Given the description of an element on the screen output the (x, y) to click on. 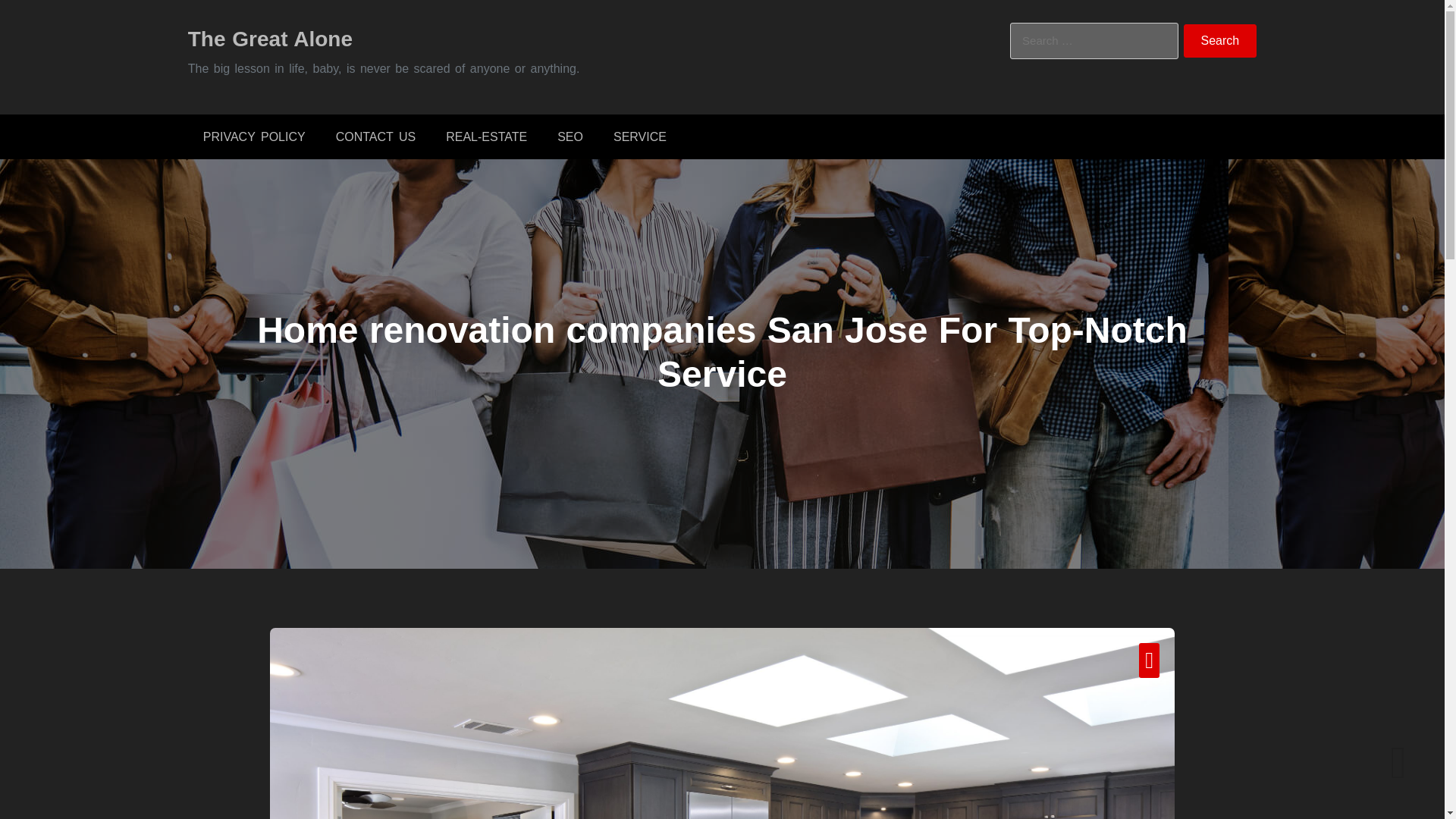
The Great Alone (269, 38)
Search (1220, 40)
SEO (569, 136)
CONTACT US (375, 136)
SERVICE (639, 136)
PRIVACY POLICY (253, 136)
Search (1220, 40)
REAL-ESTATE (485, 136)
Search (1220, 40)
